Given the description of an element on the screen output the (x, y) to click on. 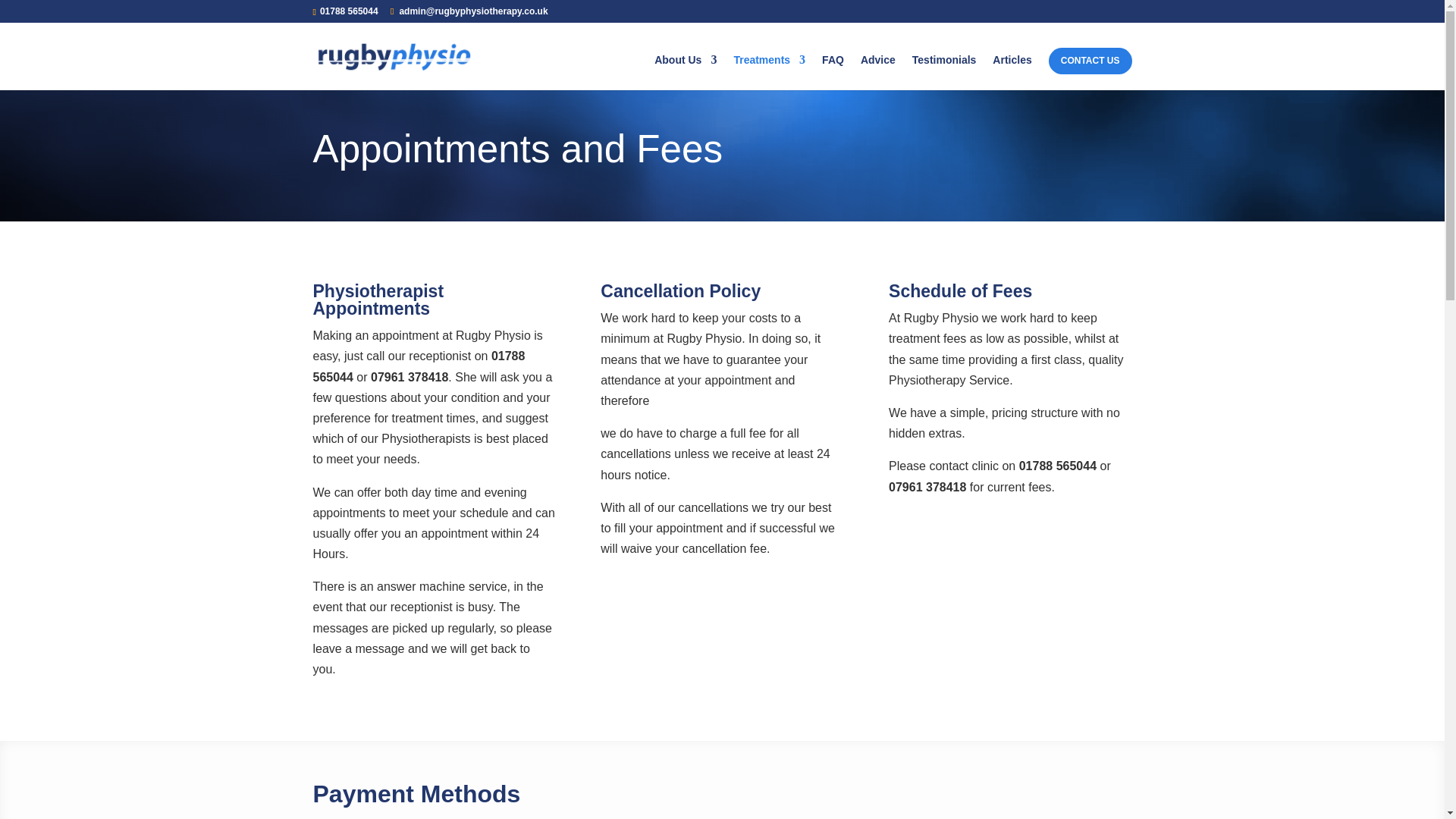
Testimonials (944, 72)
Treatments (769, 72)
Articles (1011, 72)
CONTACT US (1090, 60)
Advice (877, 72)
About Us (684, 72)
